Given the description of an element on the screen output the (x, y) to click on. 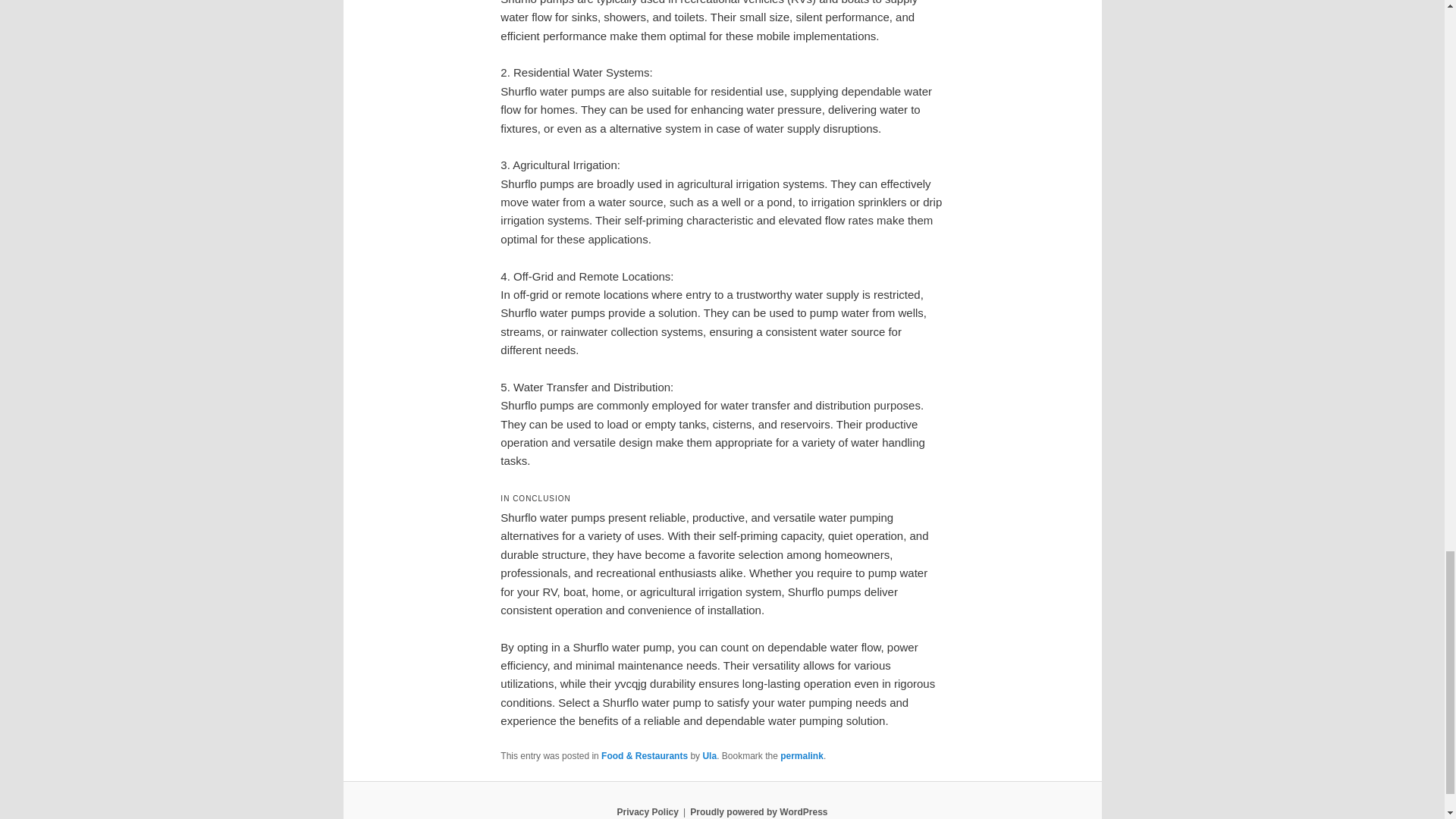
Ula (708, 756)
Privacy Policy (646, 811)
Proudly powered by WordPress (758, 811)
permalink (802, 756)
Semantic Personal Publishing Platform (758, 811)
